Given the description of an element on the screen output the (x, y) to click on. 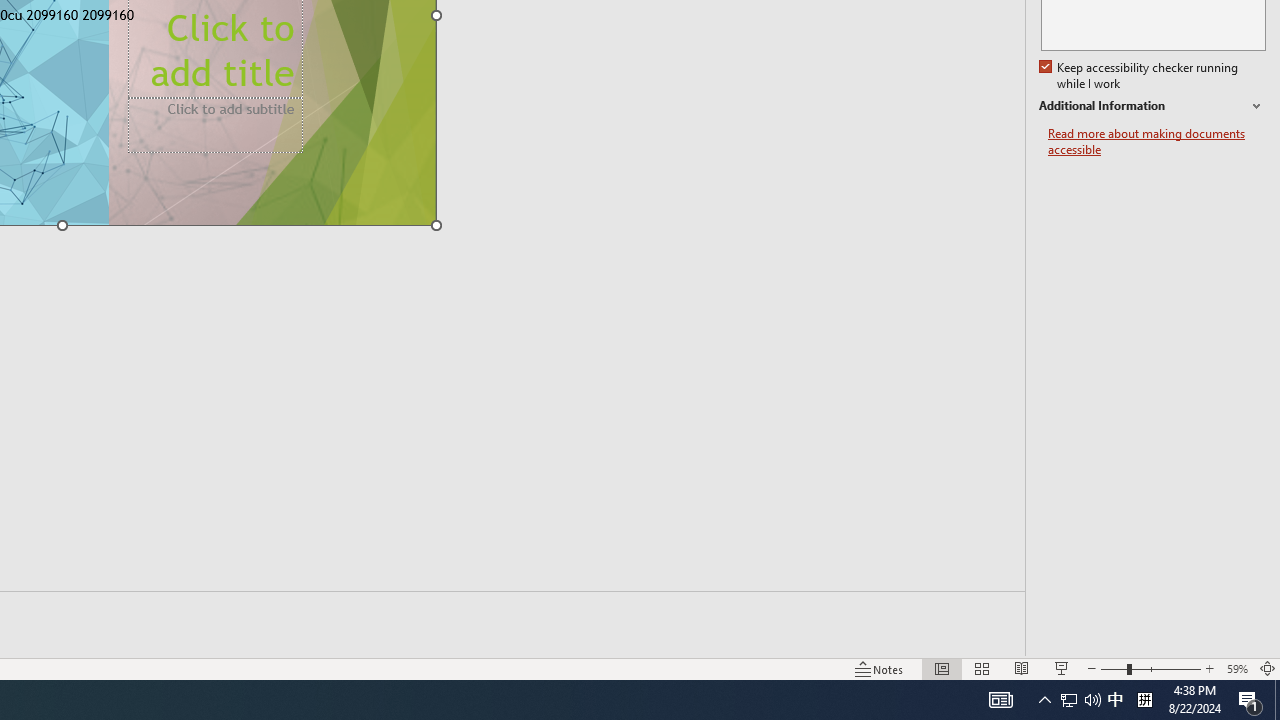
Additional Information (1152, 106)
Keep accessibility checker running while I work (1140, 76)
Zoom 59% (1236, 668)
Read more about making documents accessible (1156, 142)
